Given the description of an element on the screen output the (x, y) to click on. 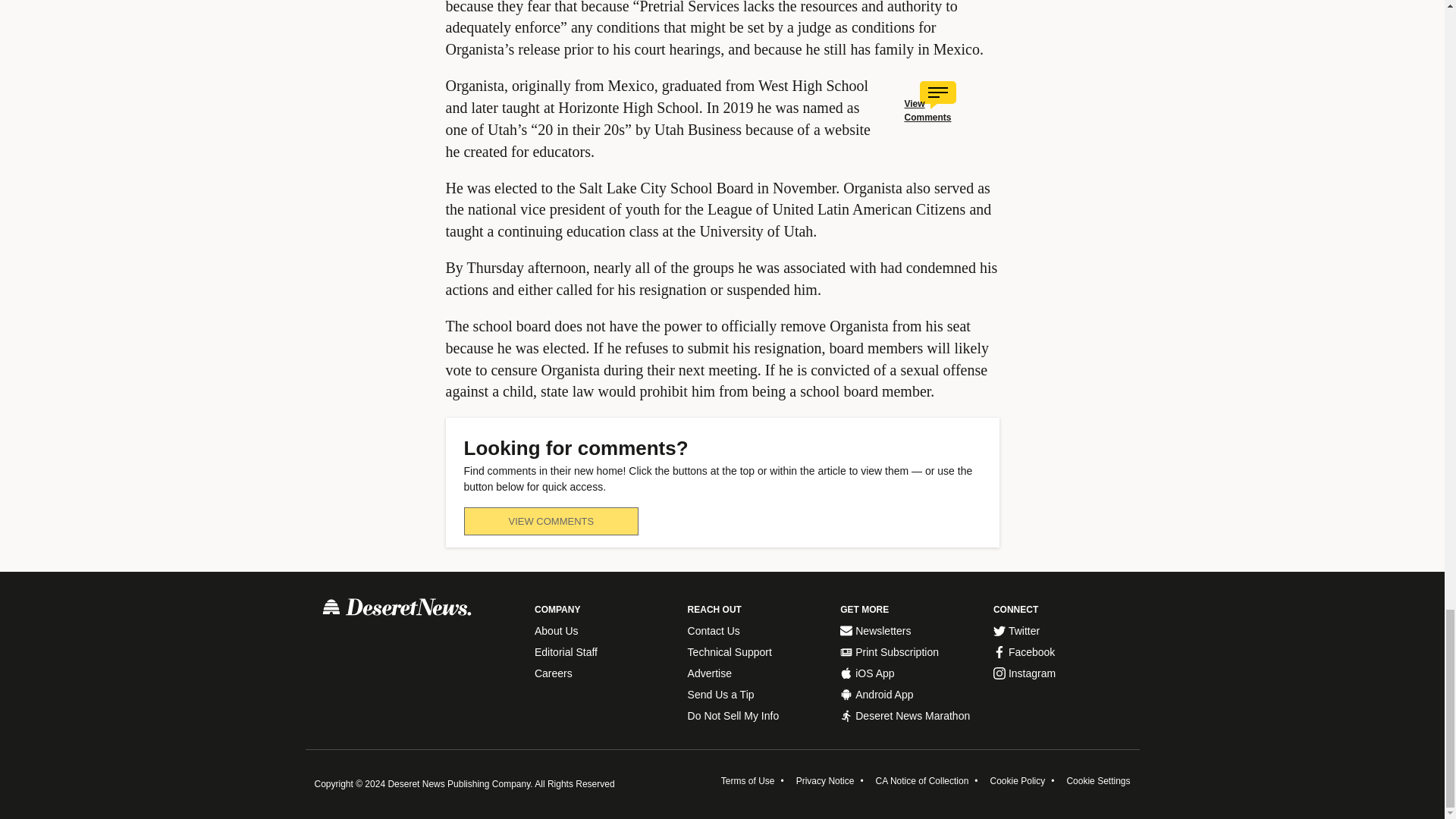
Cookie Policy (1017, 780)
Editorial Staff (603, 652)
Twitter (1062, 630)
Privacy Notice (825, 780)
VIEW COMMENTS (551, 520)
Cookie Settings (1097, 780)
Careers (603, 673)
About Us (603, 630)
Instagram (1062, 673)
Android App (909, 694)
